Given the description of an element on the screen output the (x, y) to click on. 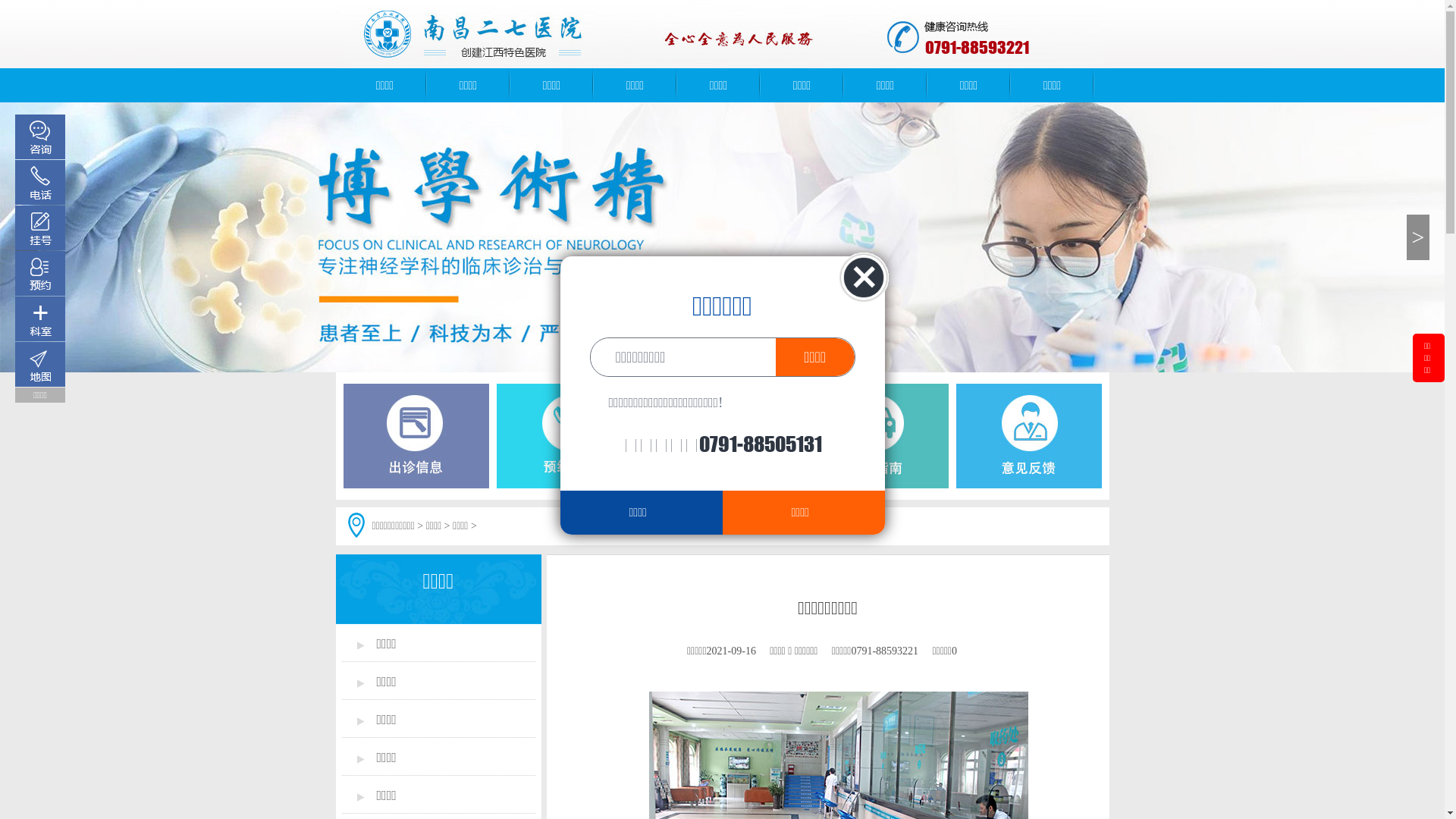
0791-88593221 Element type: text (977, 47)
